Given the description of an element on the screen output the (x, y) to click on. 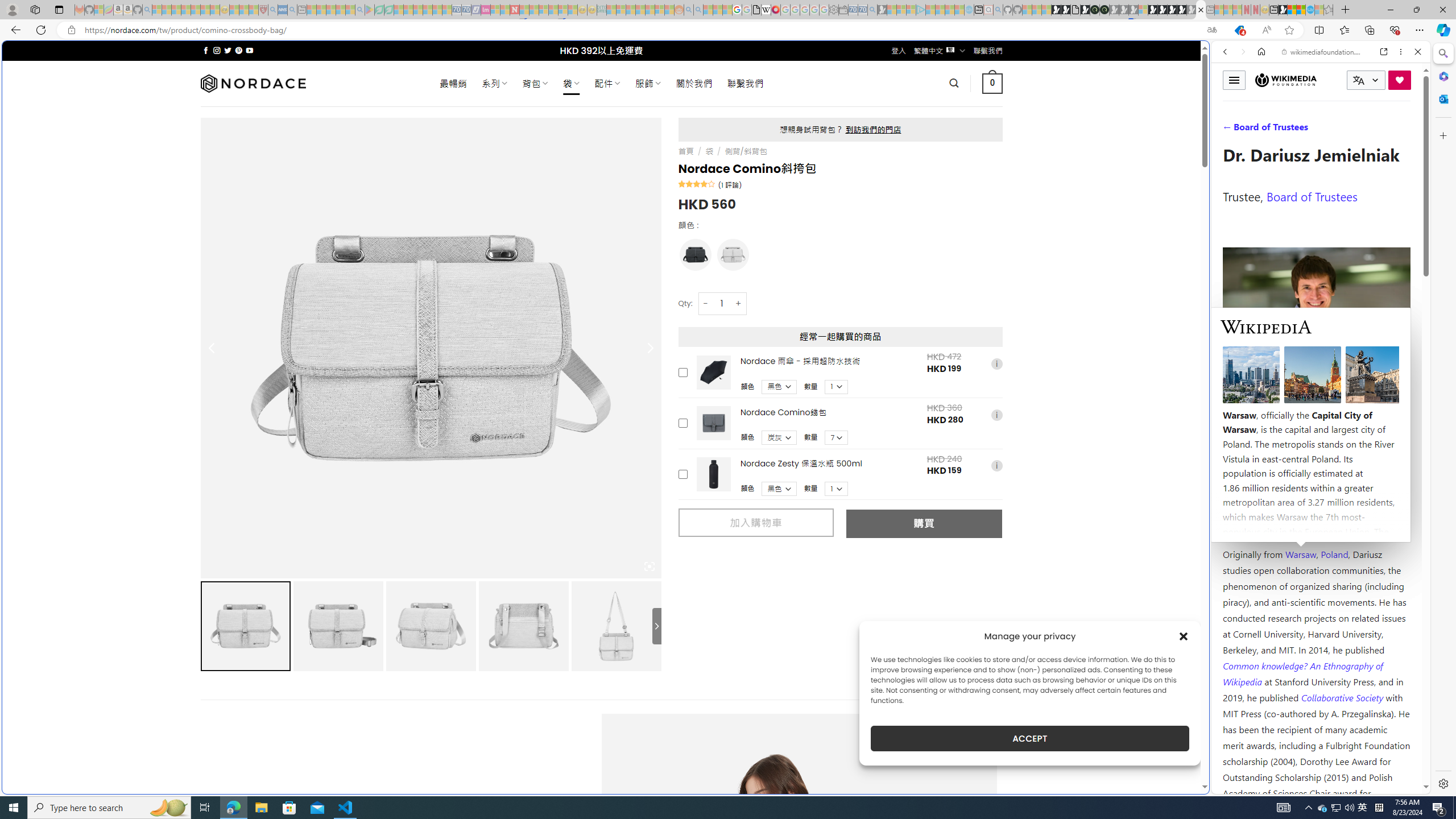
i (996, 465)
